Given the description of an element on the screen output the (x, y) to click on. 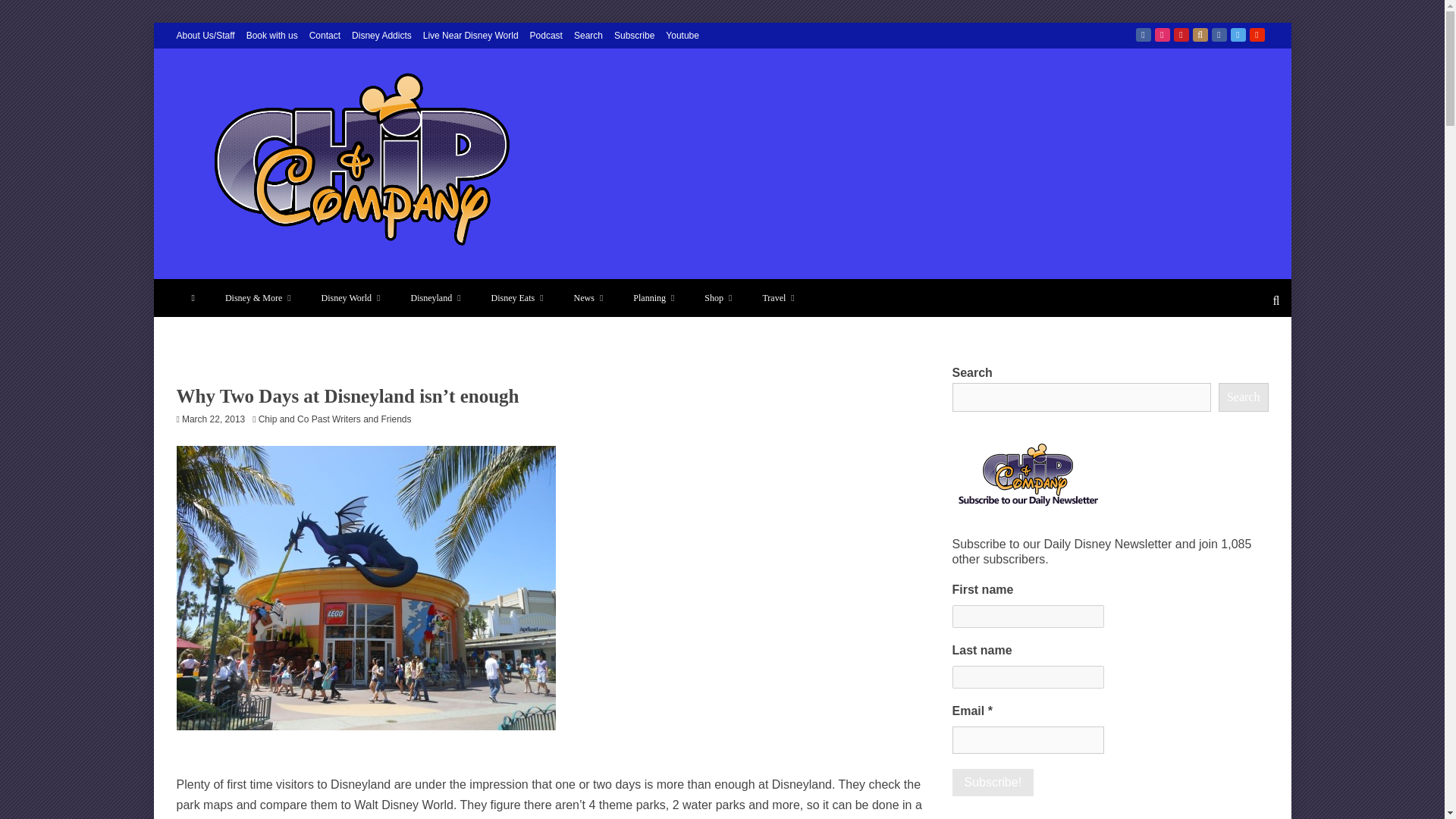
Search (587, 35)
Subscribe (633, 35)
Book with us (272, 35)
Disney World (350, 297)
Twitter (1237, 34)
CHIP AND COMPANY (339, 277)
Subscribe! (992, 782)
Instagram (1161, 34)
Facebook (1143, 34)
Youtube (681, 35)
Why Two Days at Disneyland isn't enough (365, 587)
First name (1027, 616)
Live Near Disney World (470, 35)
Email (1027, 739)
